Given the description of an element on the screen output the (x, y) to click on. 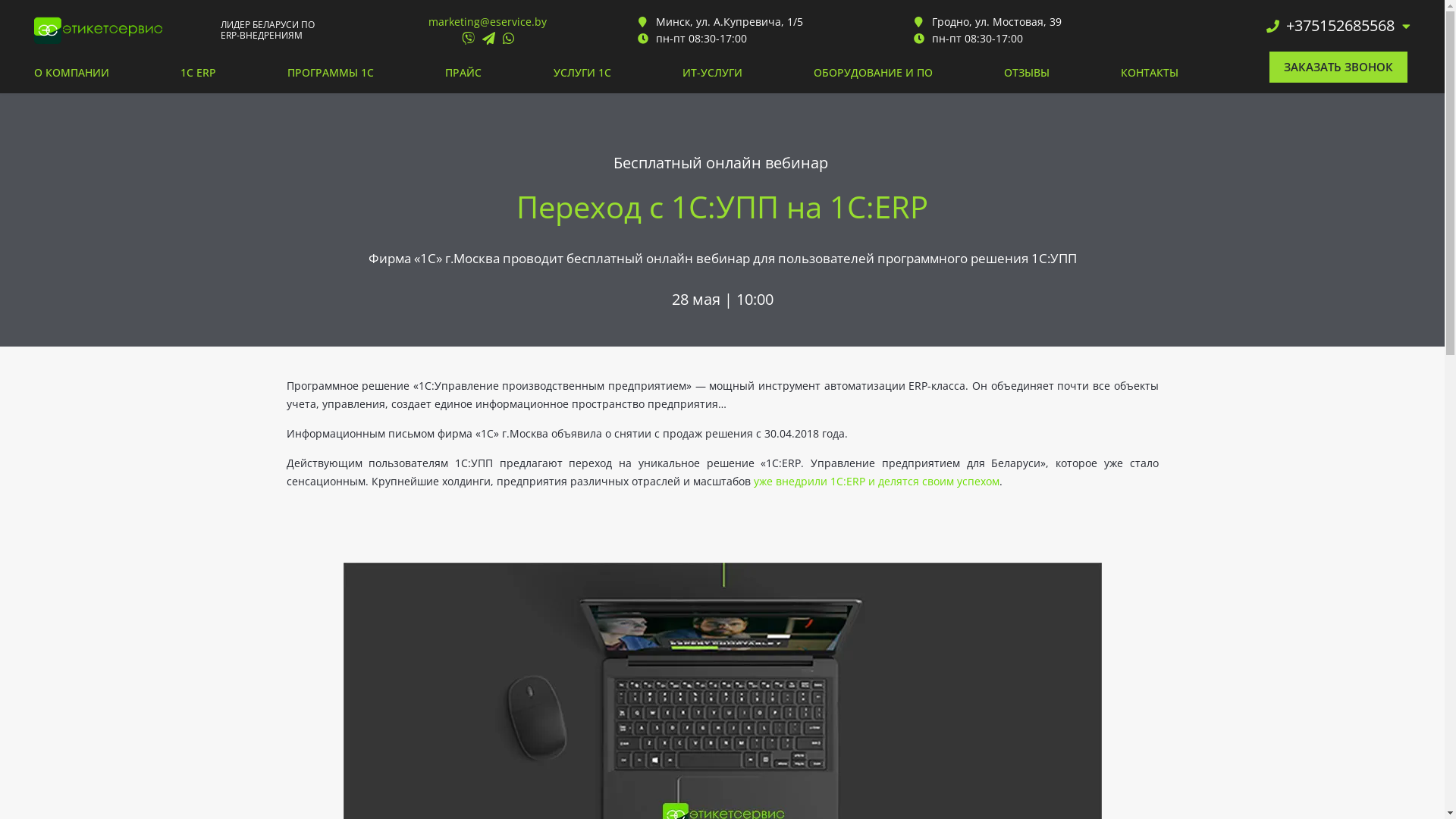
marketing@eservice.by Element type: text (487, 21)
+375152685568 Element type: text (1342, 25)
